Given the description of an element on the screen output the (x, y) to click on. 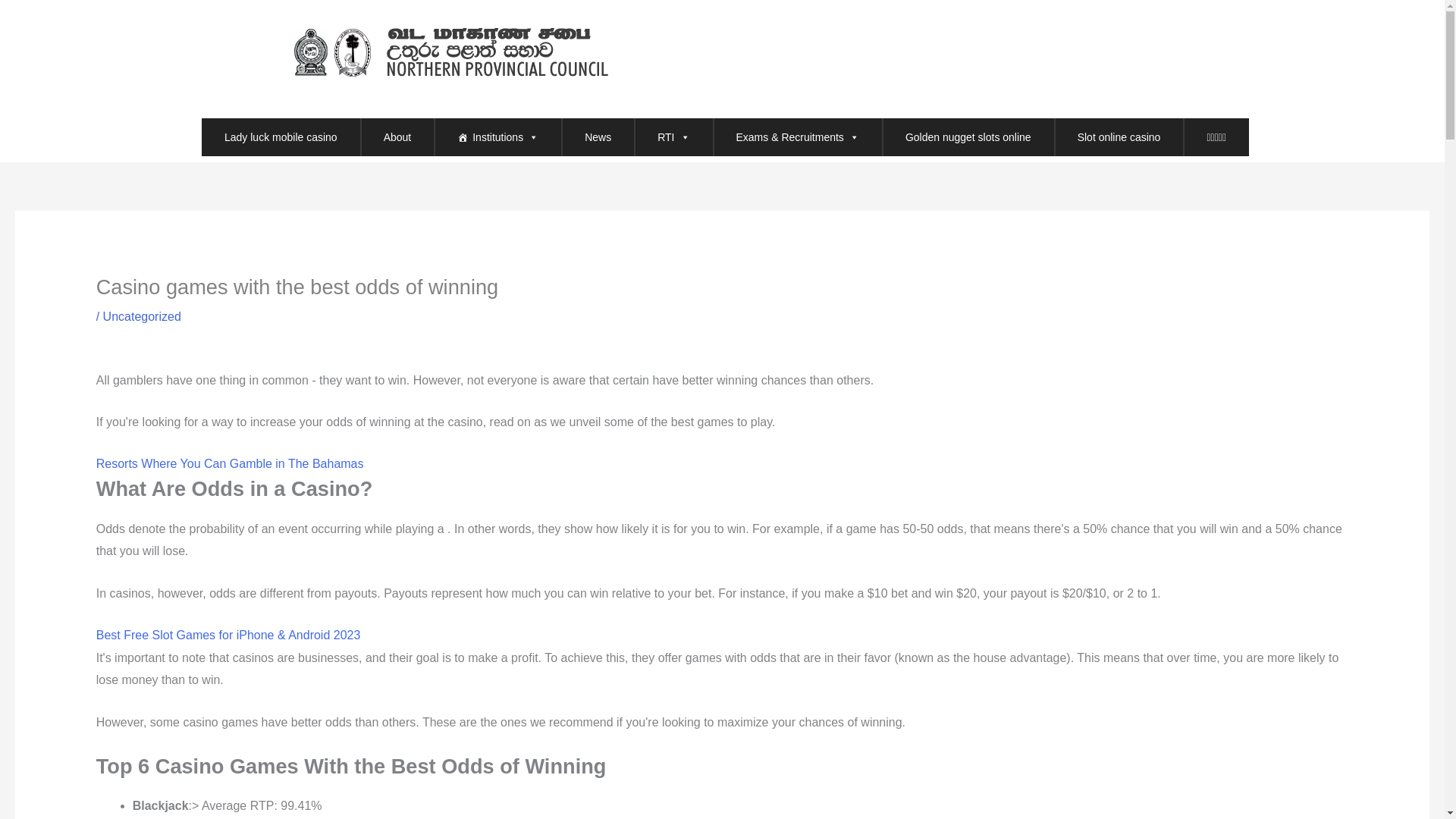
About (397, 136)
Lady luck mobile casino (280, 136)
Institutions (496, 136)
